Given the description of an element on the screen output the (x, y) to click on. 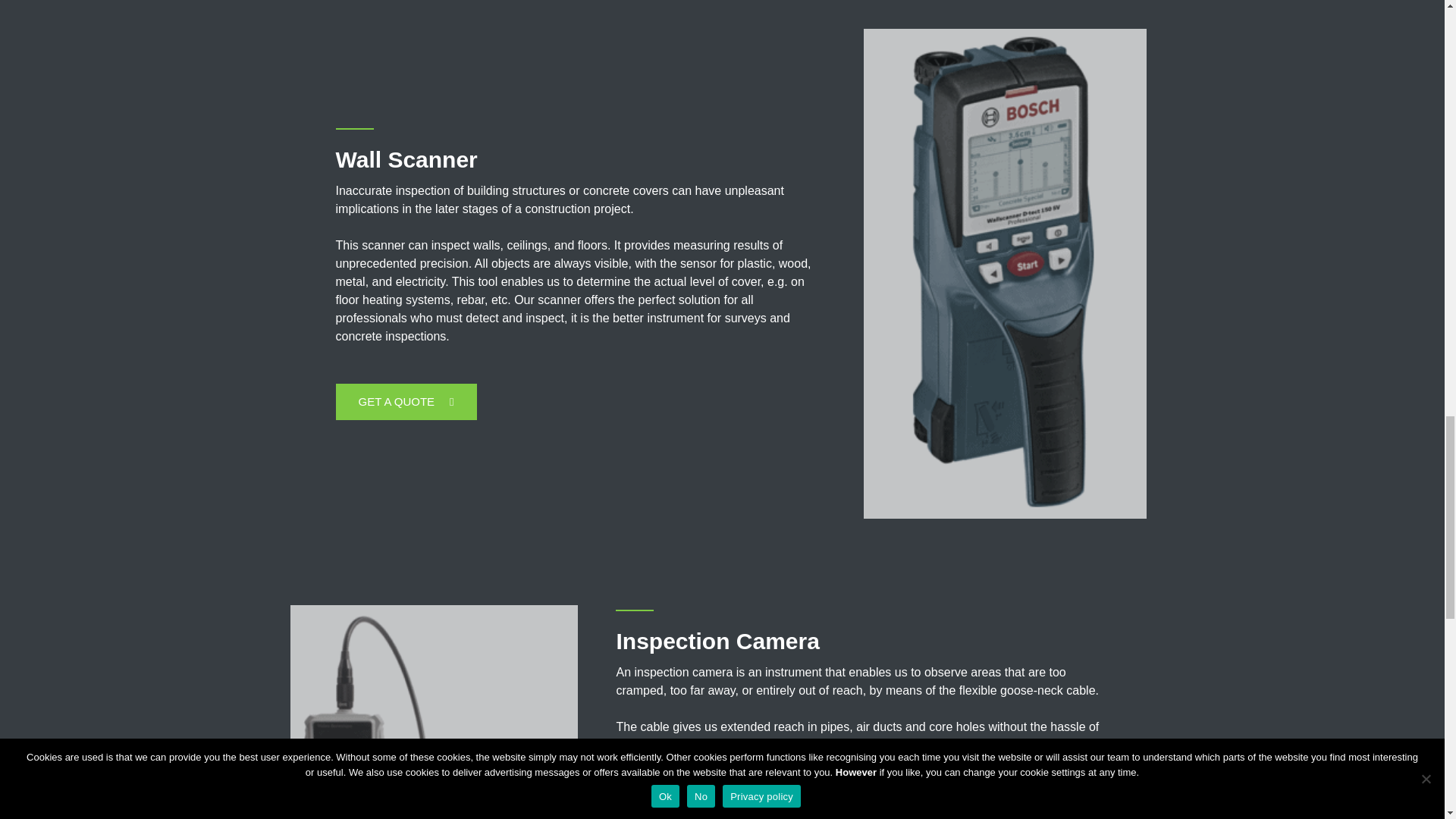
GET A QUOTE (405, 402)
